Given the description of an element on the screen output the (x, y) to click on. 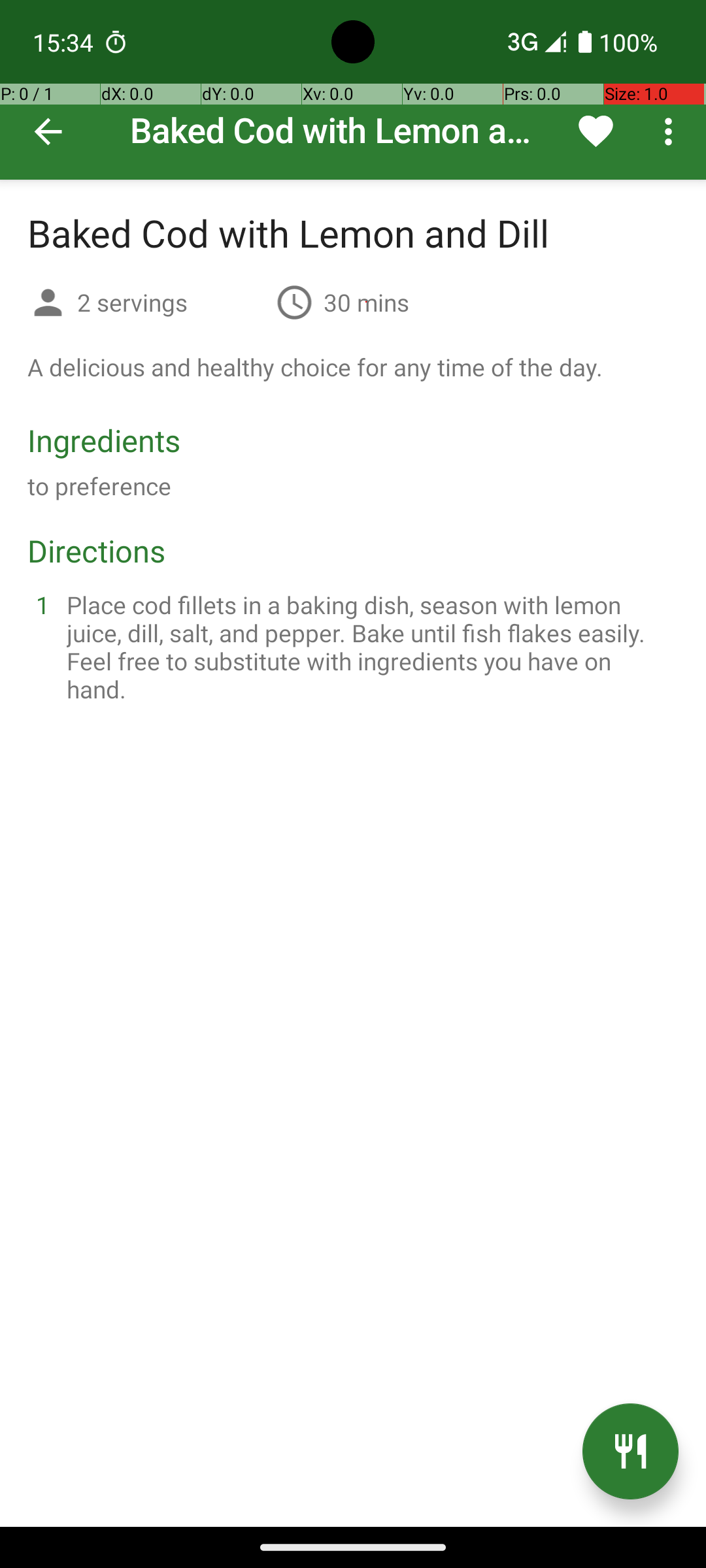
Place cod fillets in a baking dish, season with lemon juice, dill, salt, and pepper. Bake until fish flakes easily. Feel free to substitute with ingredients you have on hand. Element type: android.widget.TextView (368, 646)
